Given the description of an element on the screen output the (x, y) to click on. 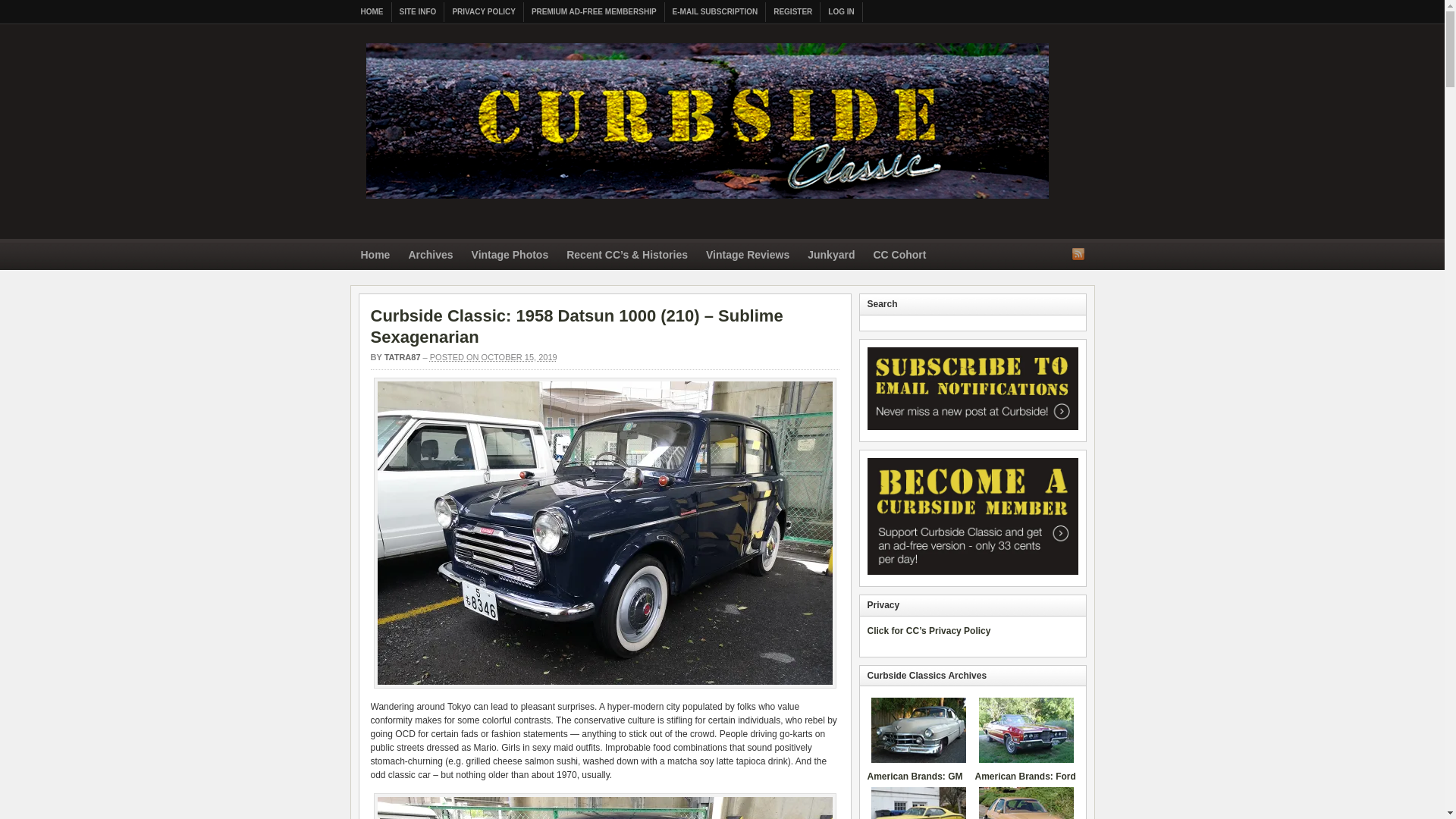
LOG IN (841, 12)
SITE INFO (417, 12)
2019-10-15T01:00:33-07:00 (493, 356)
Home (375, 256)
E-MAIL SUBSCRIPTION (716, 12)
PRIVACY POLICY (484, 12)
Curbside Classic RSS Feed (1078, 253)
Tatra87 (402, 356)
Archives (429, 256)
HOME (372, 12)
